Given the description of an element on the screen output the (x, y) to click on. 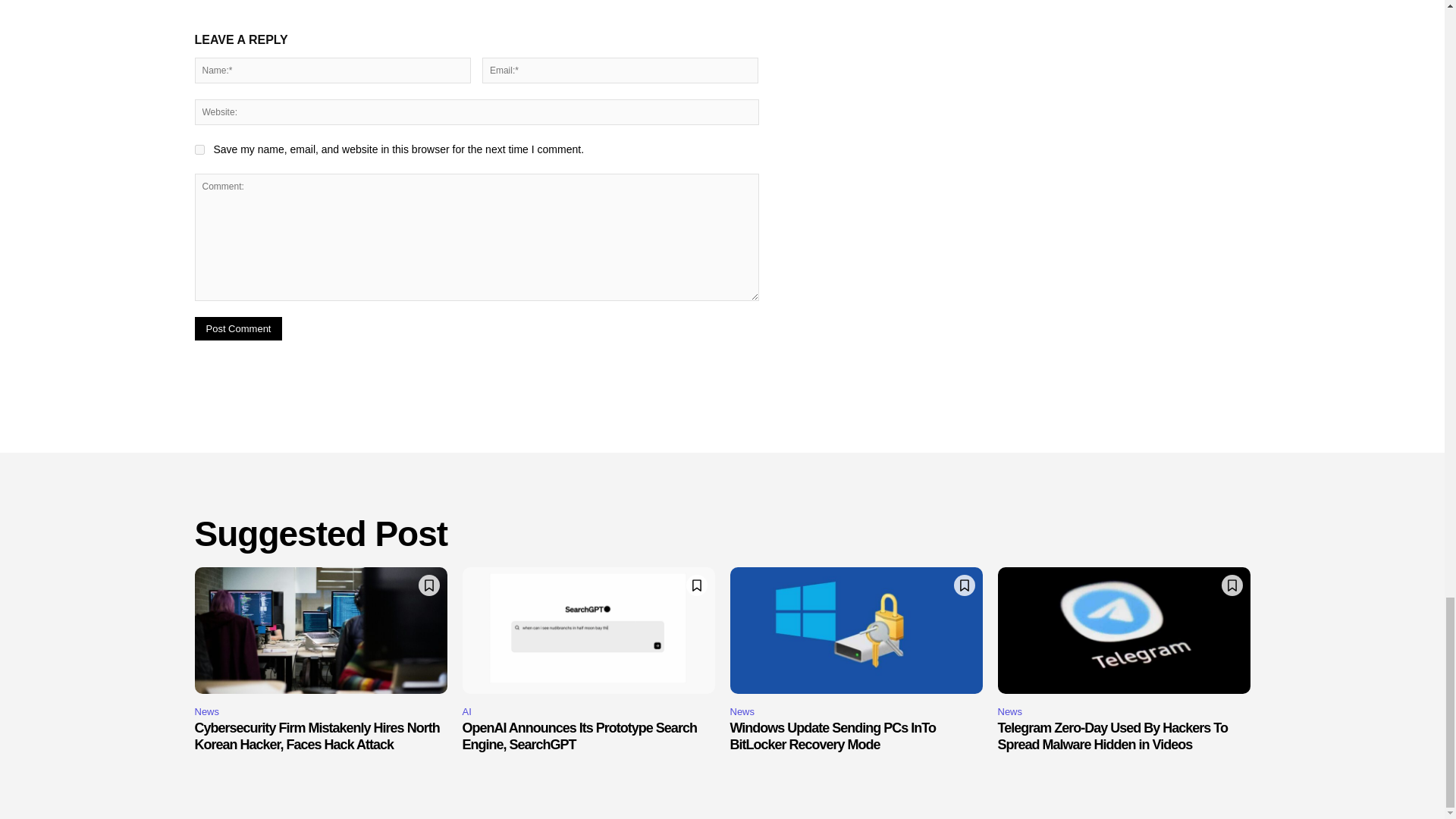
Post Comment (237, 328)
yes (198, 149)
Post Comment (237, 328)
